Given the description of an element on the screen output the (x, y) to click on. 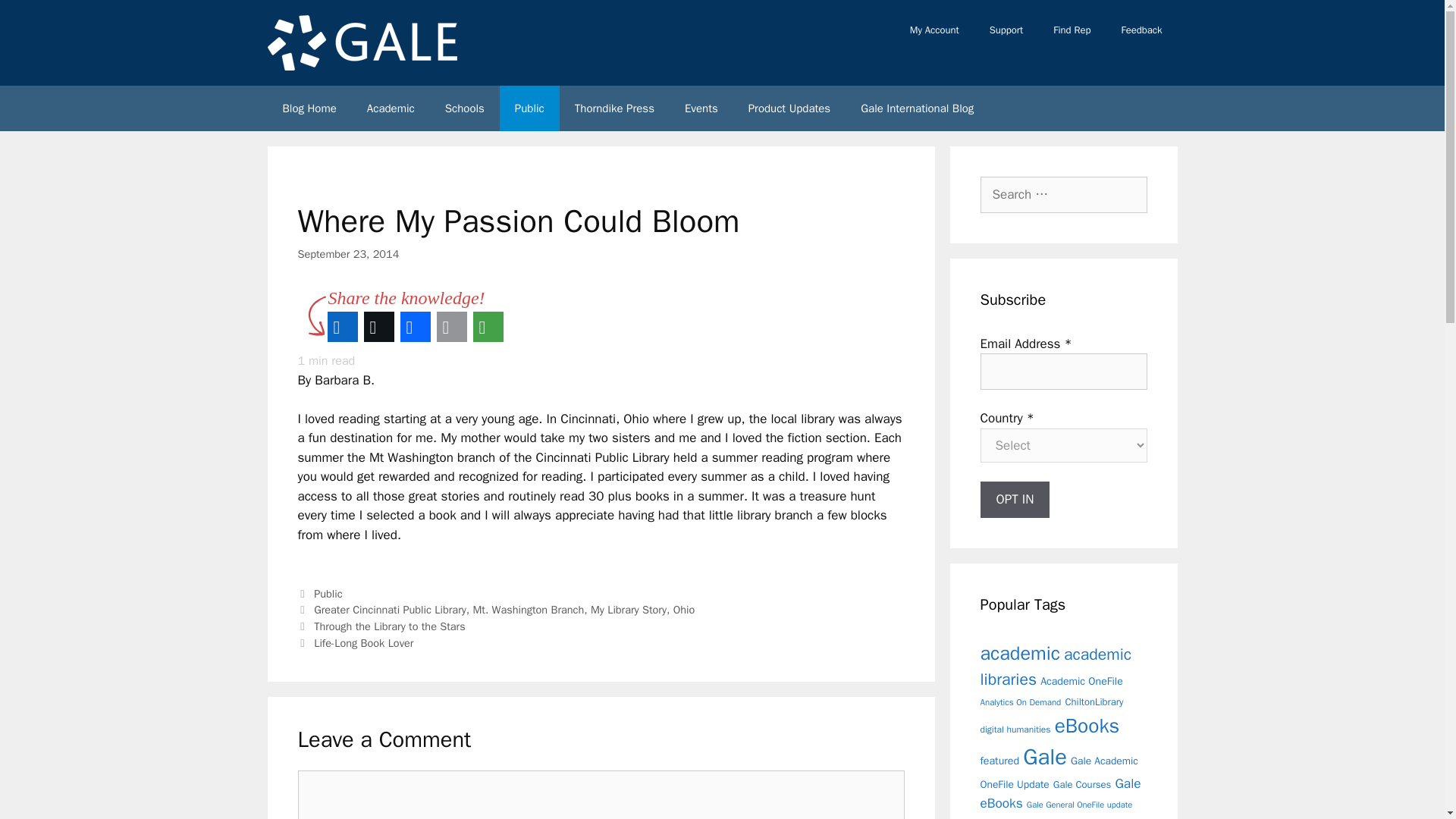
ChiltonLibrary (1093, 701)
Academic OneFile (1081, 680)
digital humanities (1014, 729)
Search (35, 18)
Public (529, 108)
Product Updates (789, 108)
My Library Story (628, 609)
Schools (464, 108)
Events (701, 108)
Blog Home (308, 108)
Thorndike Press (614, 108)
Mt. Washington Branch (527, 609)
Feedback (1140, 30)
Academic (390, 108)
Find Rep (1071, 30)
